Given the description of an element on the screen output the (x, y) to click on. 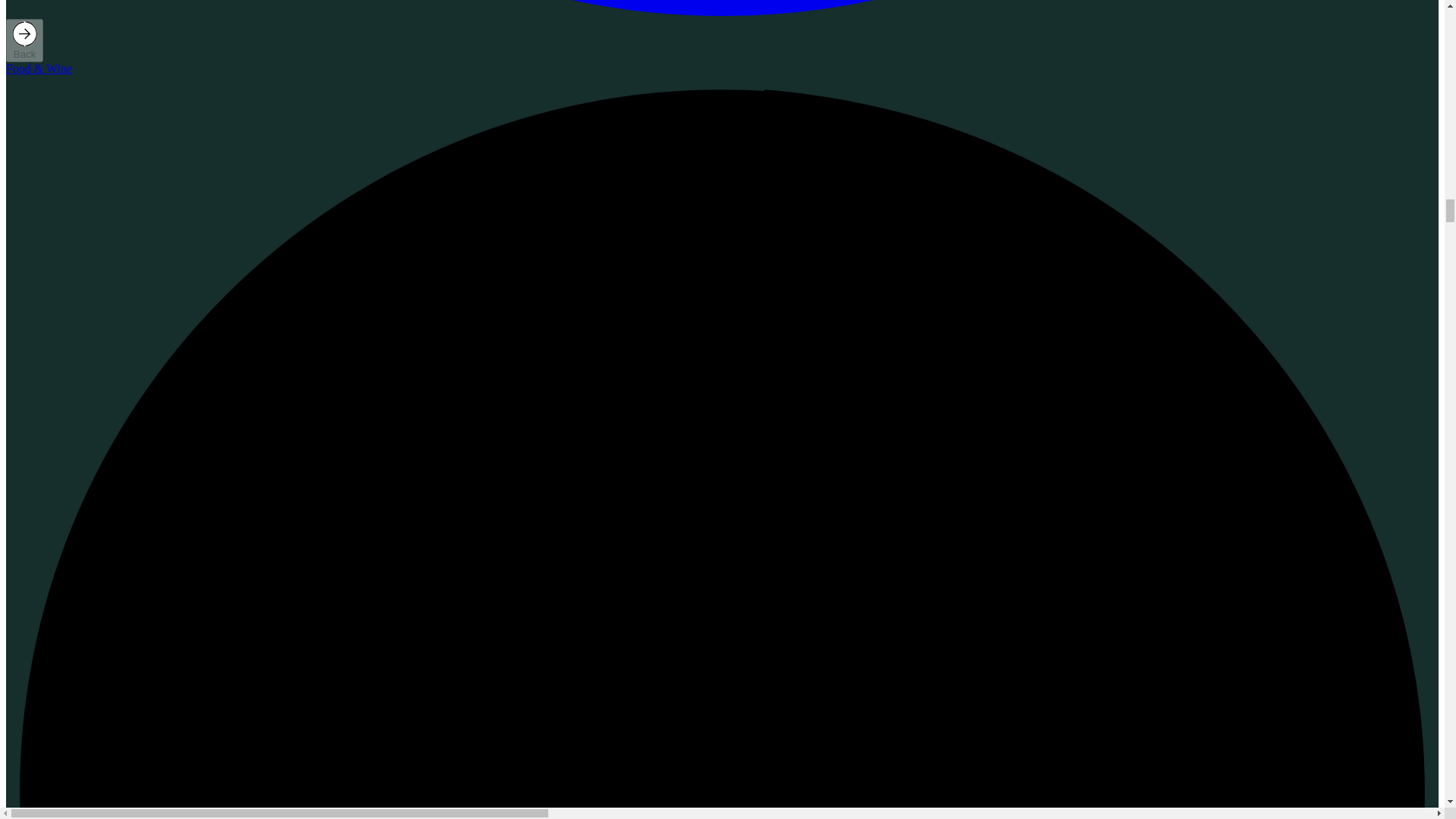
Back (24, 40)
